Given the description of an element on the screen output the (x, y) to click on. 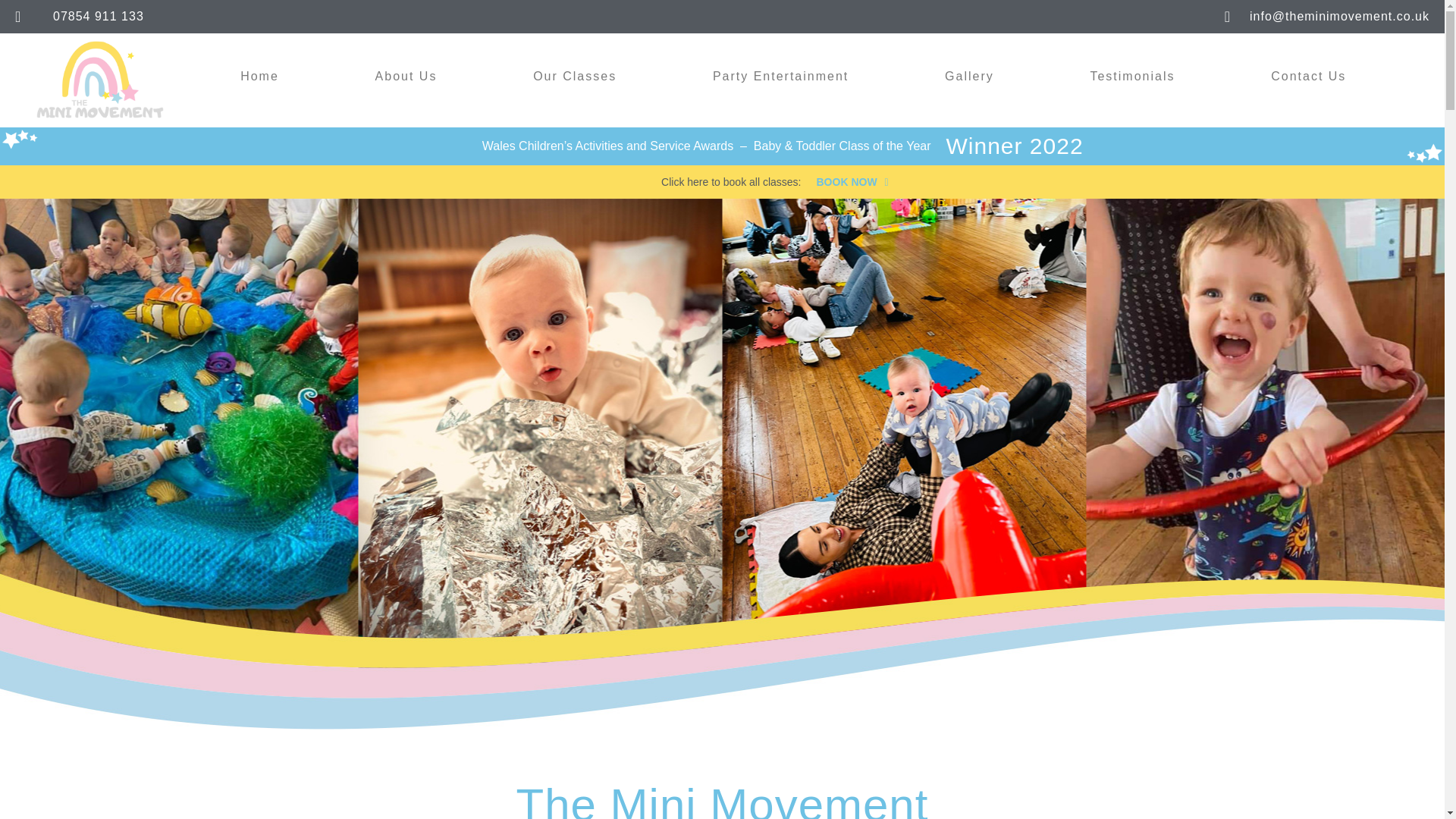
About Us (405, 76)
Winner 2022 (1014, 145)
Party Entertainment (780, 76)
Contact Us (1308, 76)
Testimonials (1132, 76)
Home (259, 76)
BOOK NOW (851, 182)
07854 911 133 (368, 16)
Our Classes (574, 76)
Gallery (969, 76)
